Given the description of an element on the screen output the (x, y) to click on. 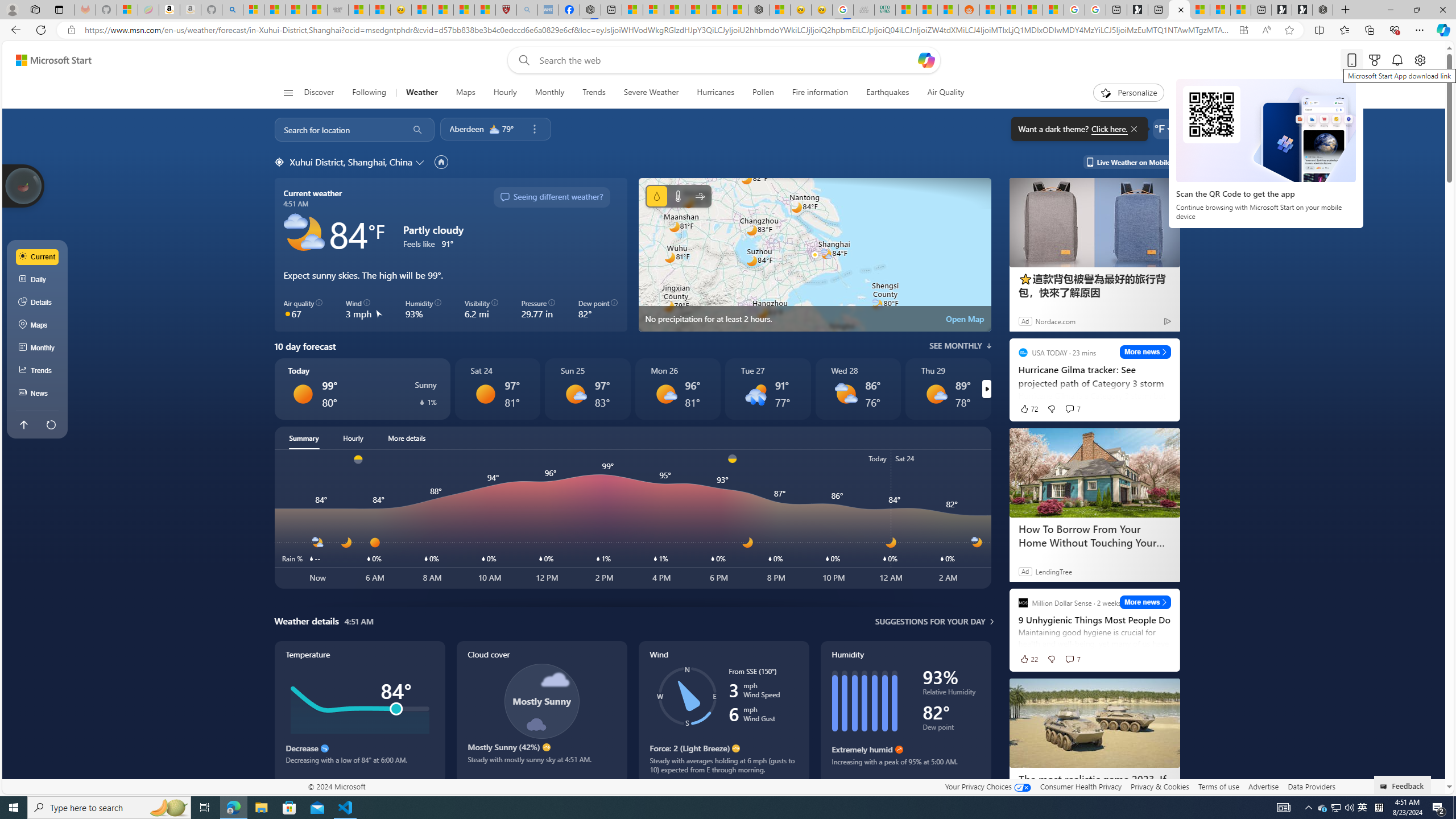
Terms of use (1218, 786)
Microsoft Start Gaming (1137, 9)
Hourly (504, 92)
Temperature (359, 711)
Precipitation (422, 401)
Class: cloudCoverSvg-DS-ps0R9q (541, 700)
Open Map (965, 318)
Skip to footer (46, 59)
Trends (593, 92)
